Given the description of an element on the screen output the (x, y) to click on. 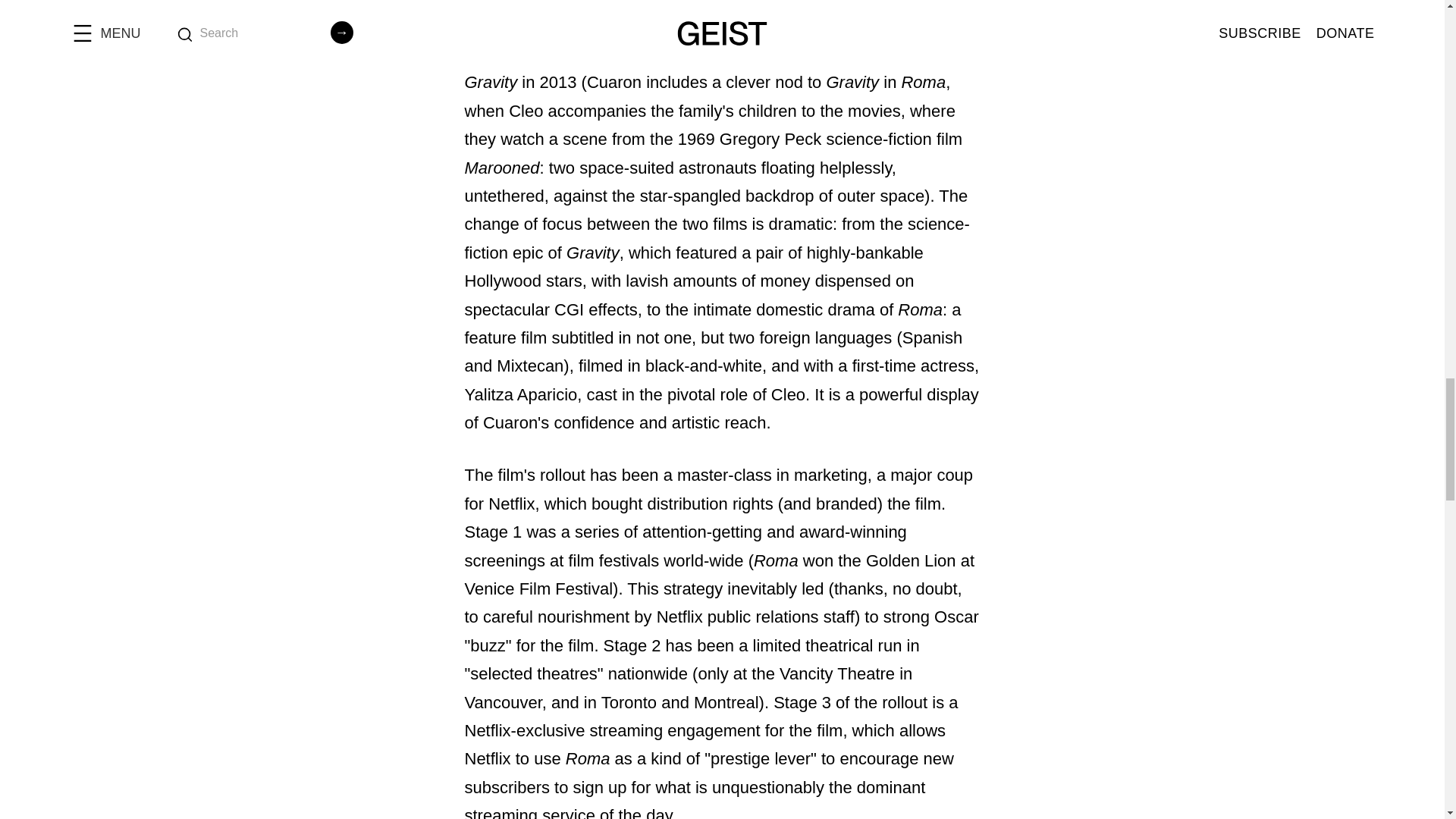
Marooned (501, 167)
